Given the description of an element on the screen output the (x, y) to click on. 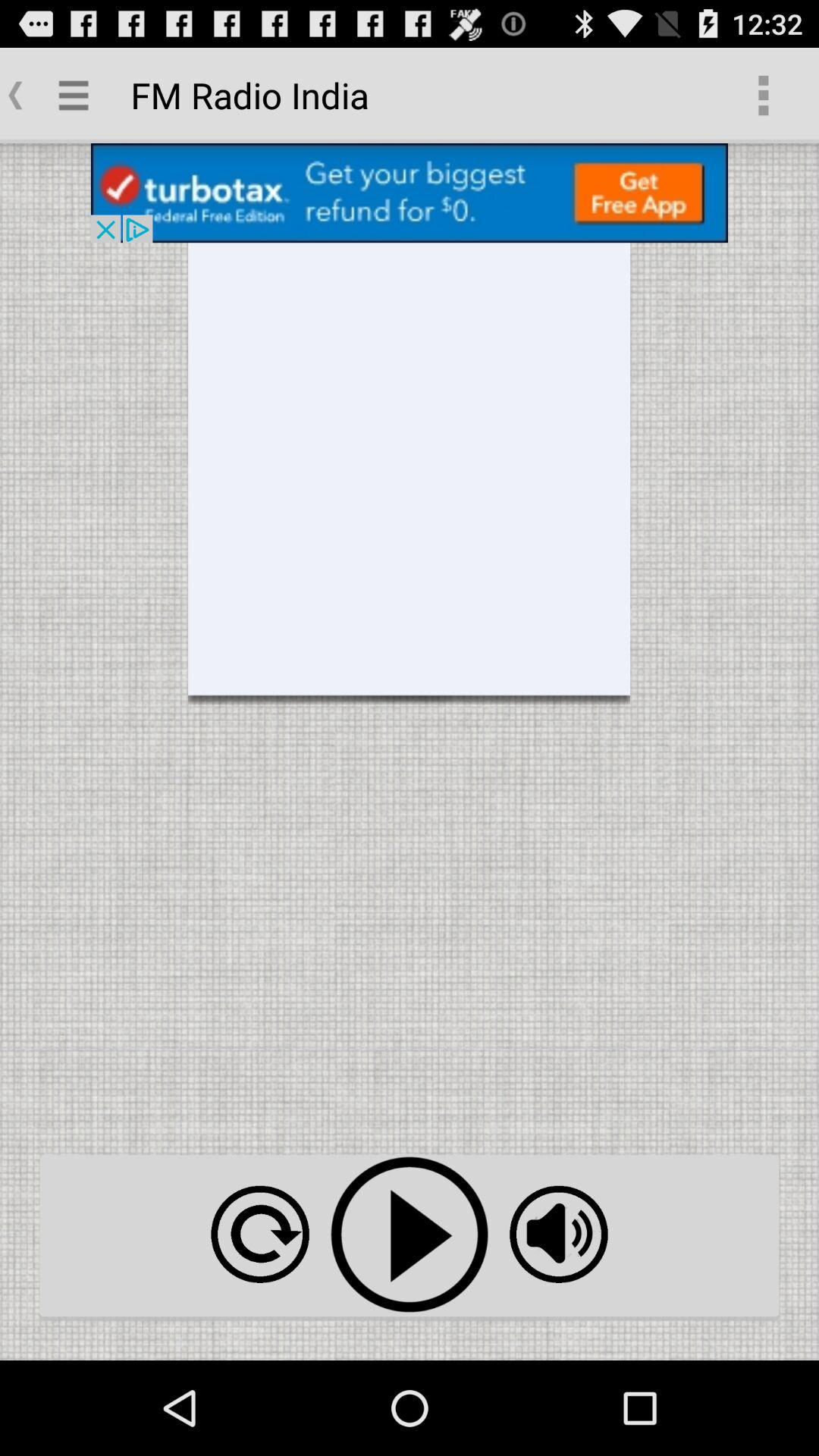
install app from advertisement (409, 192)
